Given the description of an element on the screen output the (x, y) to click on. 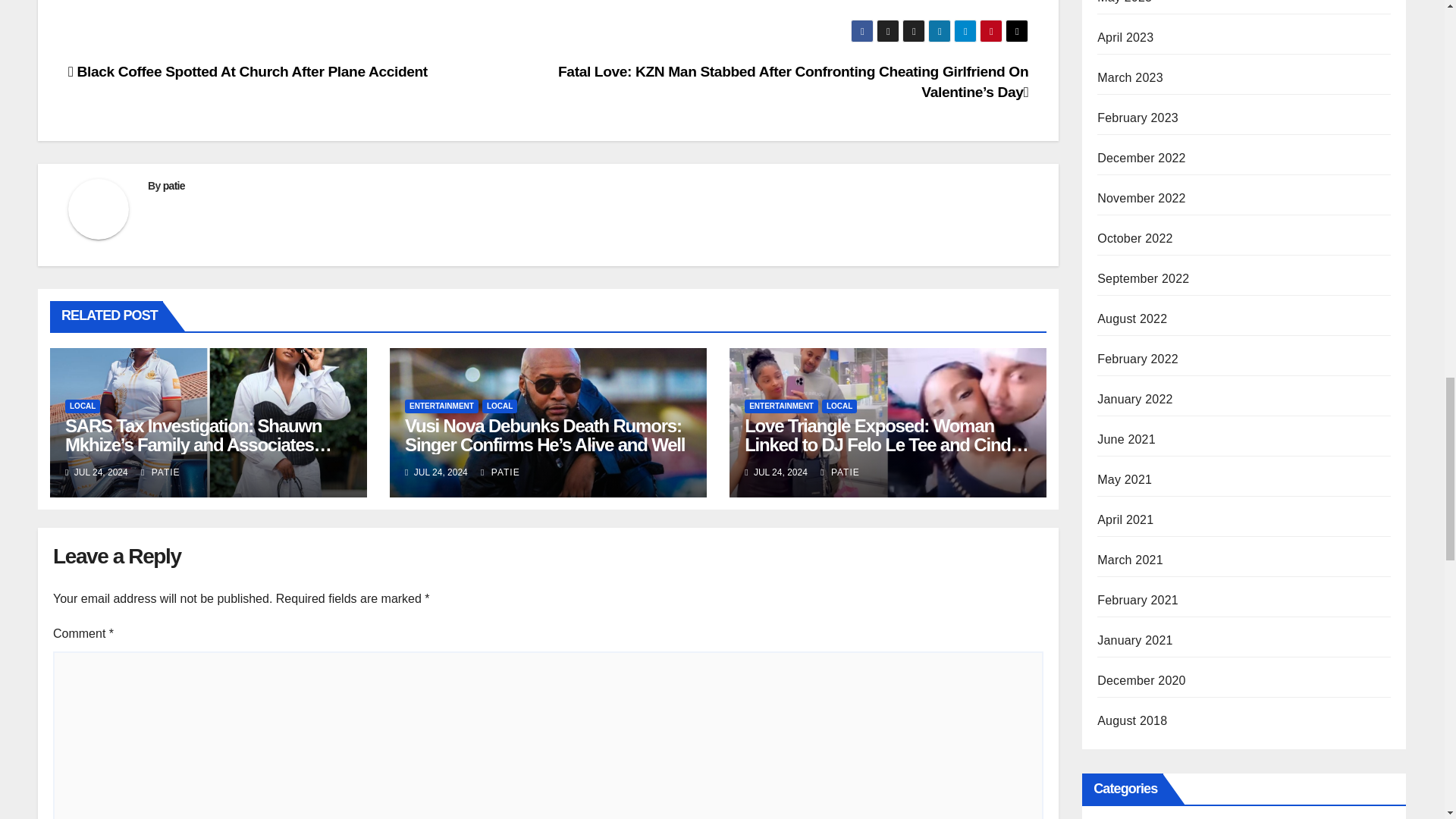
LOCAL (82, 406)
patie (173, 185)
PATIE (160, 471)
ENTERTAINMENT (441, 406)
Black Coffee Spotted At Church After Plane Accident (248, 71)
PATIE (499, 471)
LOCAL (498, 406)
